Given the description of an element on the screen output the (x, y) to click on. 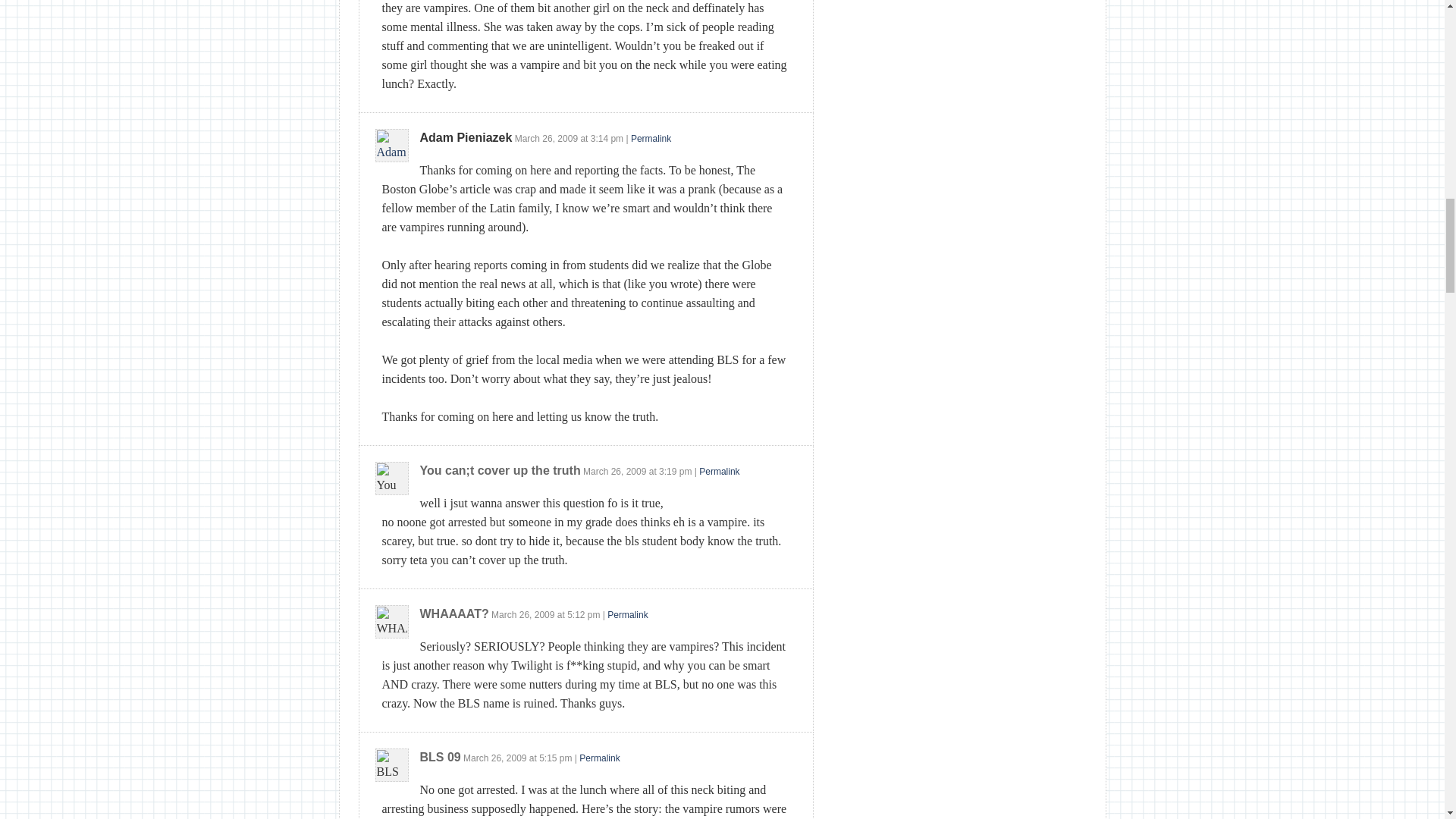
Thursday, March 26th, 2009, 3:14 pm (546, 138)
Permalink (627, 614)
Permalink (599, 757)
Permalink (650, 138)
Permalink (718, 471)
Adam Pieniazek (466, 137)
